Given the description of an element on the screen output the (x, y) to click on. 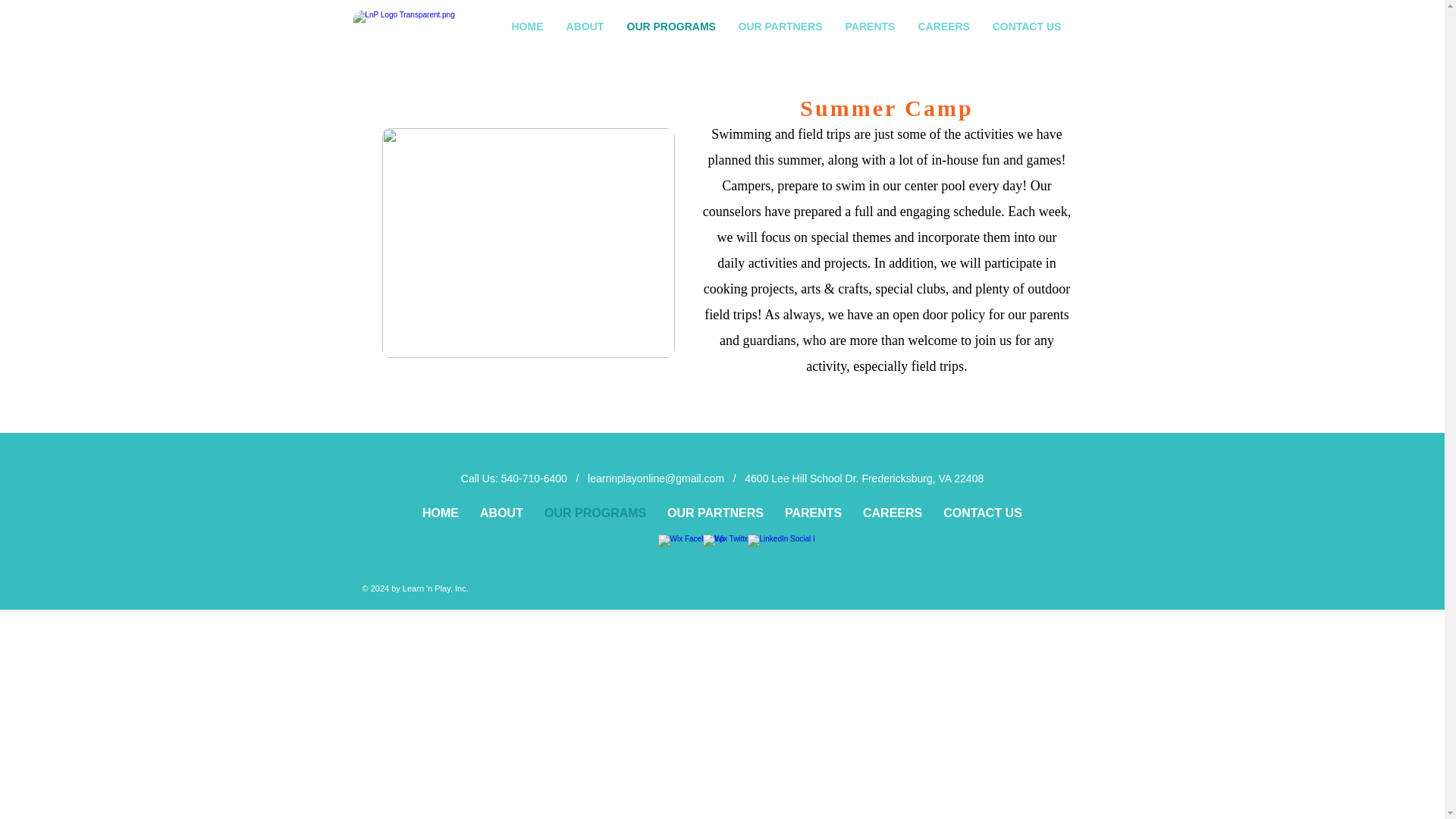
ABOUT (501, 512)
OUR PARTNERS (780, 26)
CONTACT US (982, 512)
CAREERS (892, 512)
PARENTS (869, 26)
CONTACT US (1026, 26)
HOME (440, 512)
HOME (527, 26)
PARENTS (812, 512)
OUR PARTNERS (714, 512)
OUR PROGRAMS (670, 26)
OUR PROGRAMS (595, 512)
CAREERS (943, 26)
ABOUT (585, 26)
